Given the description of an element on the screen output the (x, y) to click on. 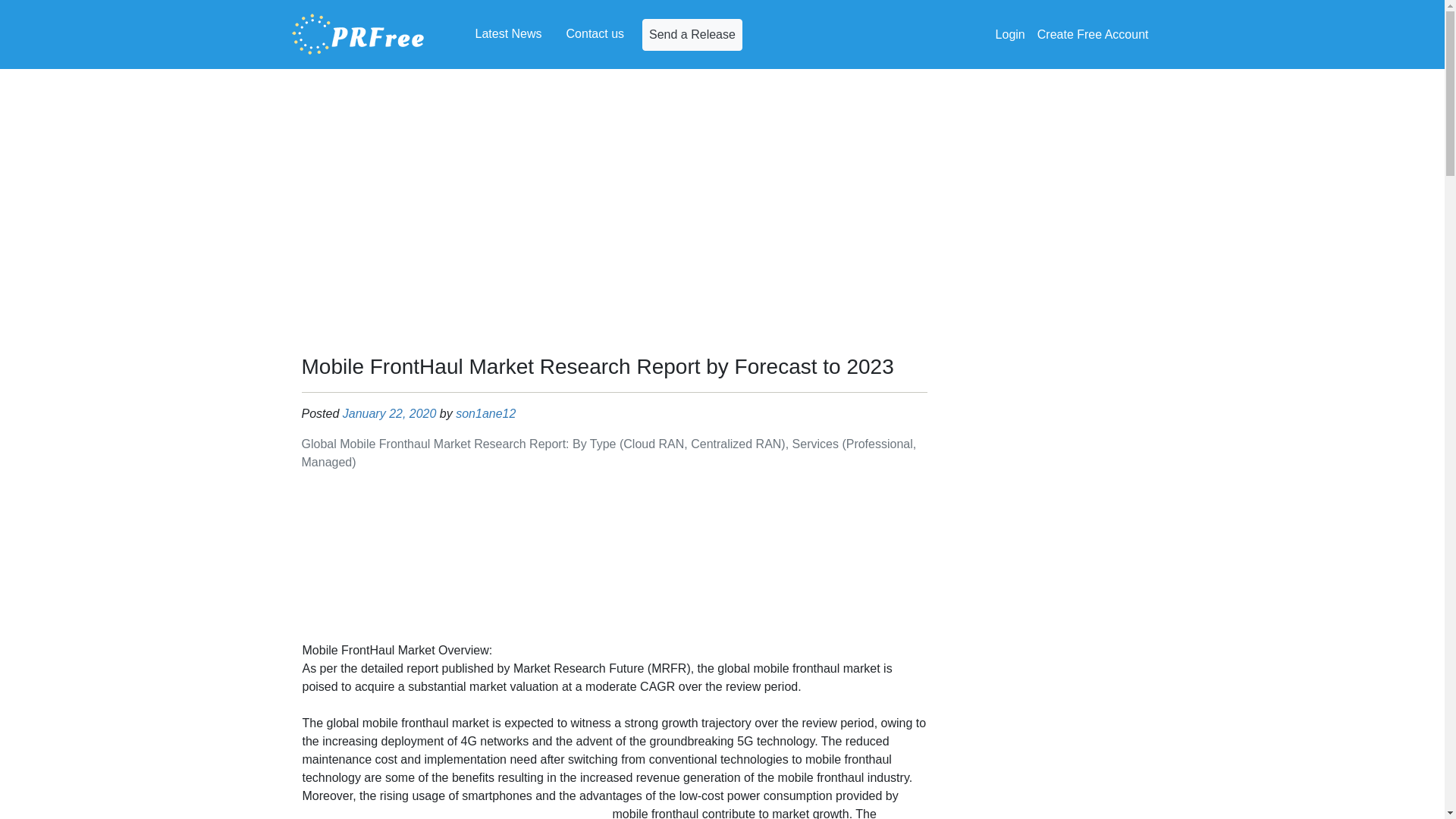
Create Free Account (1092, 34)
Contact us (595, 33)
January 22, 2020 (389, 413)
PFRree (357, 34)
Advertisement (614, 559)
Latest News (507, 33)
son1ane12 (485, 413)
Send a Release (692, 33)
Login (1010, 34)
